Given the description of an element on the screen output the (x, y) to click on. 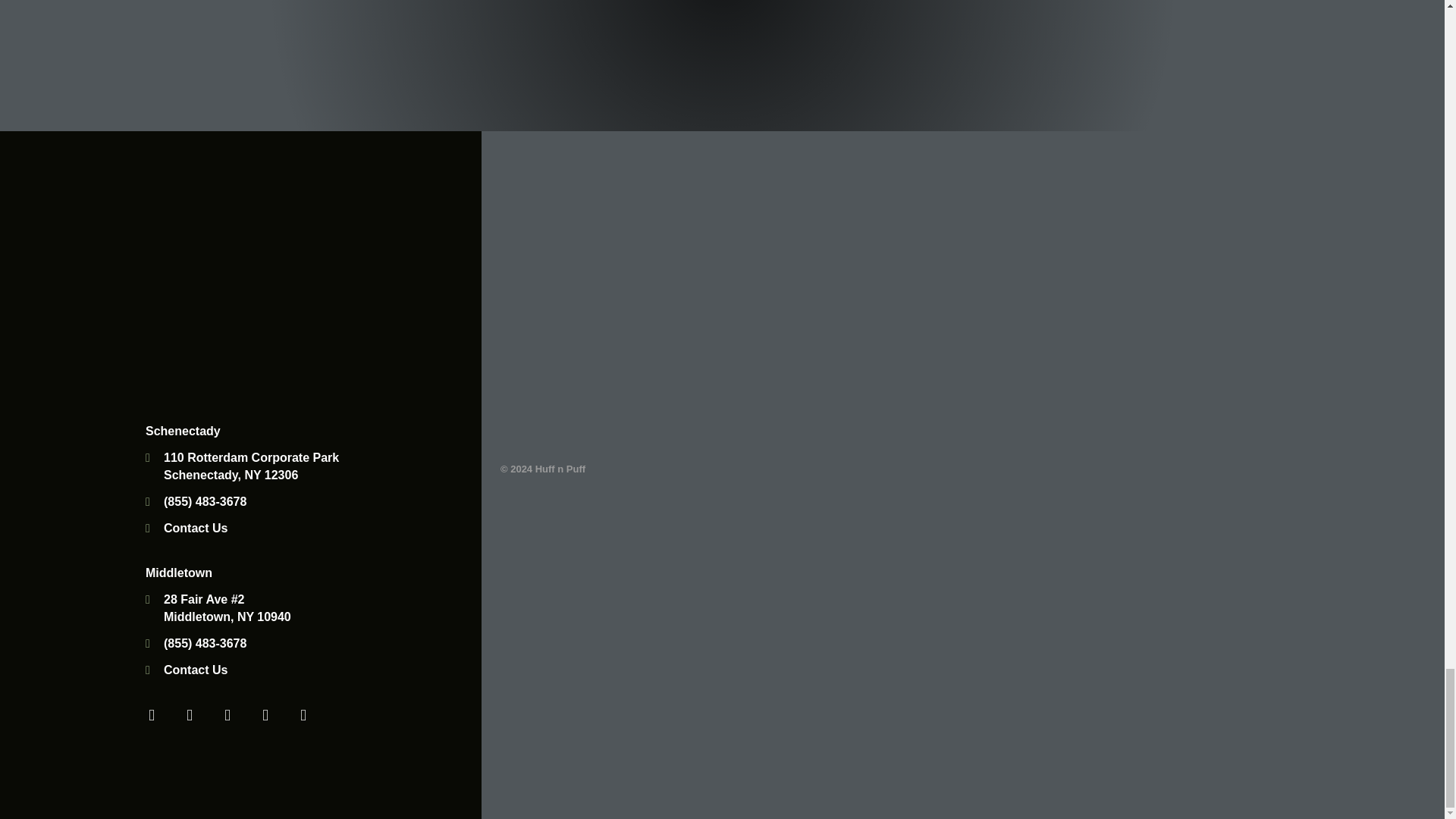
Youtube (227, 715)
Twitter (189, 715)
Linkedin (265, 715)
Huff n Puff (236, 258)
Instagram (303, 715)
Facebook (151, 715)
